Given the description of an element on the screen output the (x, y) to click on. 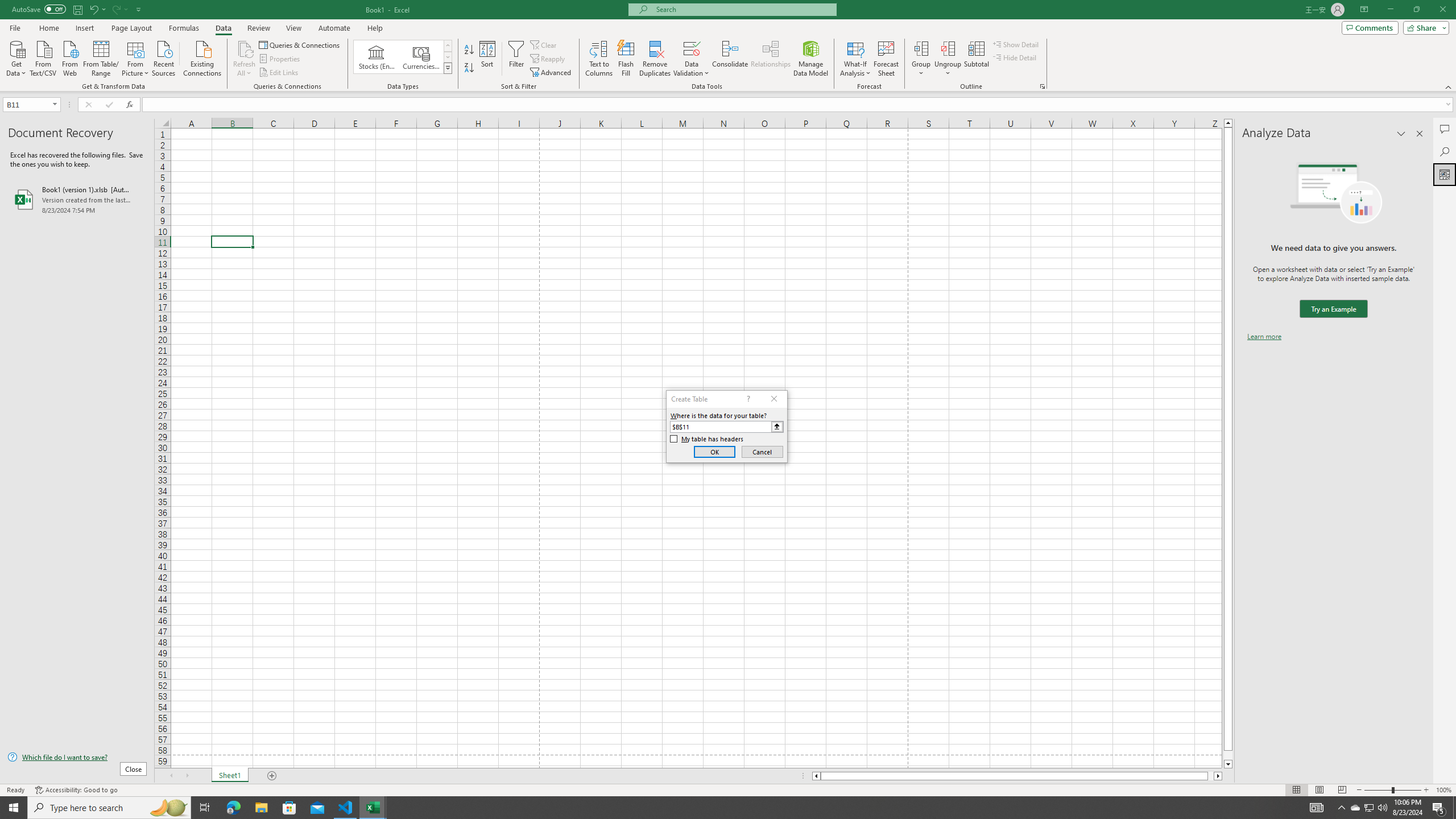
What-If Analysis (855, 58)
